Given the description of an element on the screen output the (x, y) to click on. 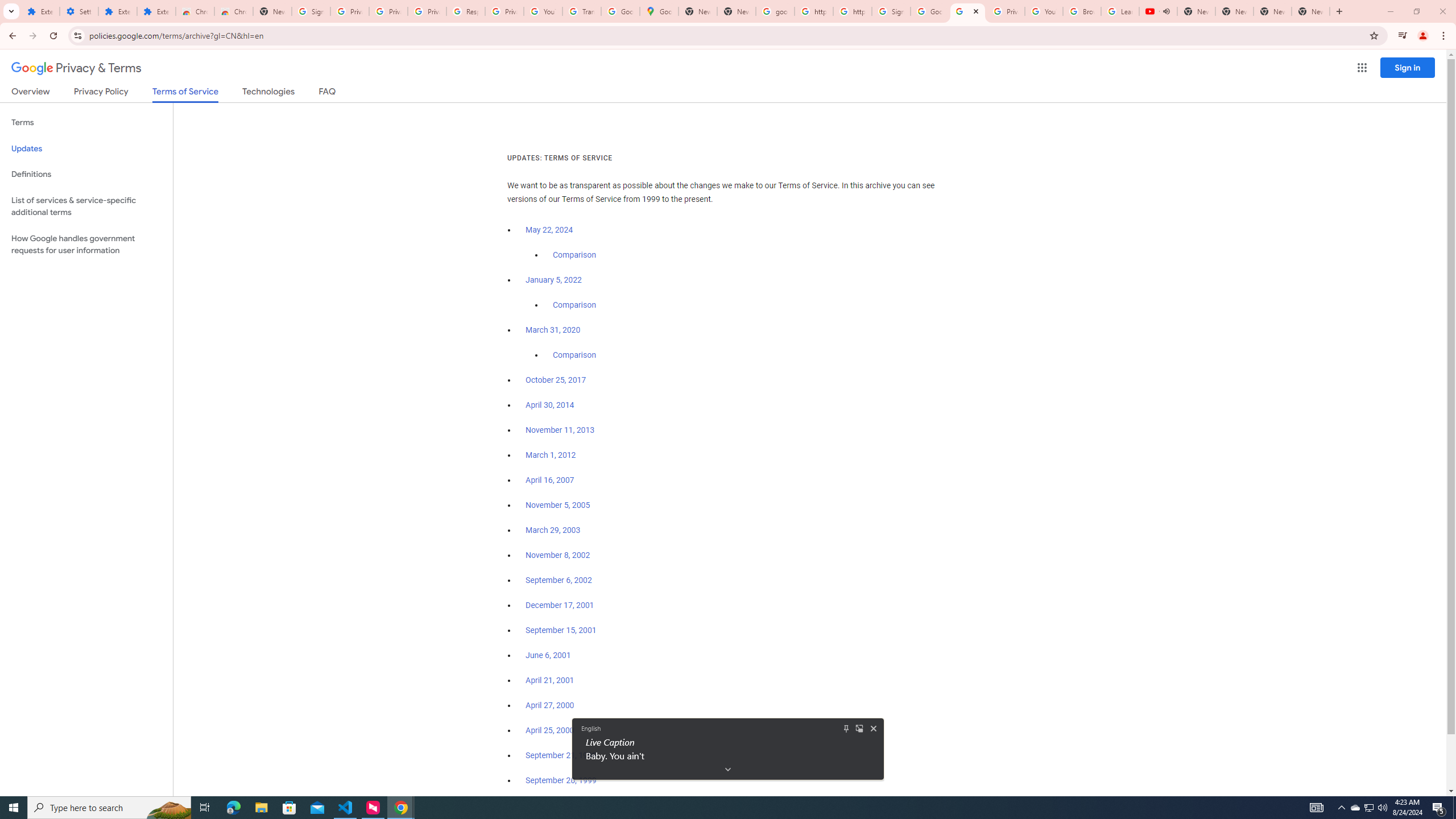
Google Maps (659, 11)
Microsoft Edge (233, 807)
Task View (204, 807)
How Google handles government requests for user information (86, 244)
Pin (846, 728)
Sign in - Google Accounts (890, 11)
Microsoft Store (289, 807)
